Given the description of an element on the screen output the (x, y) to click on. 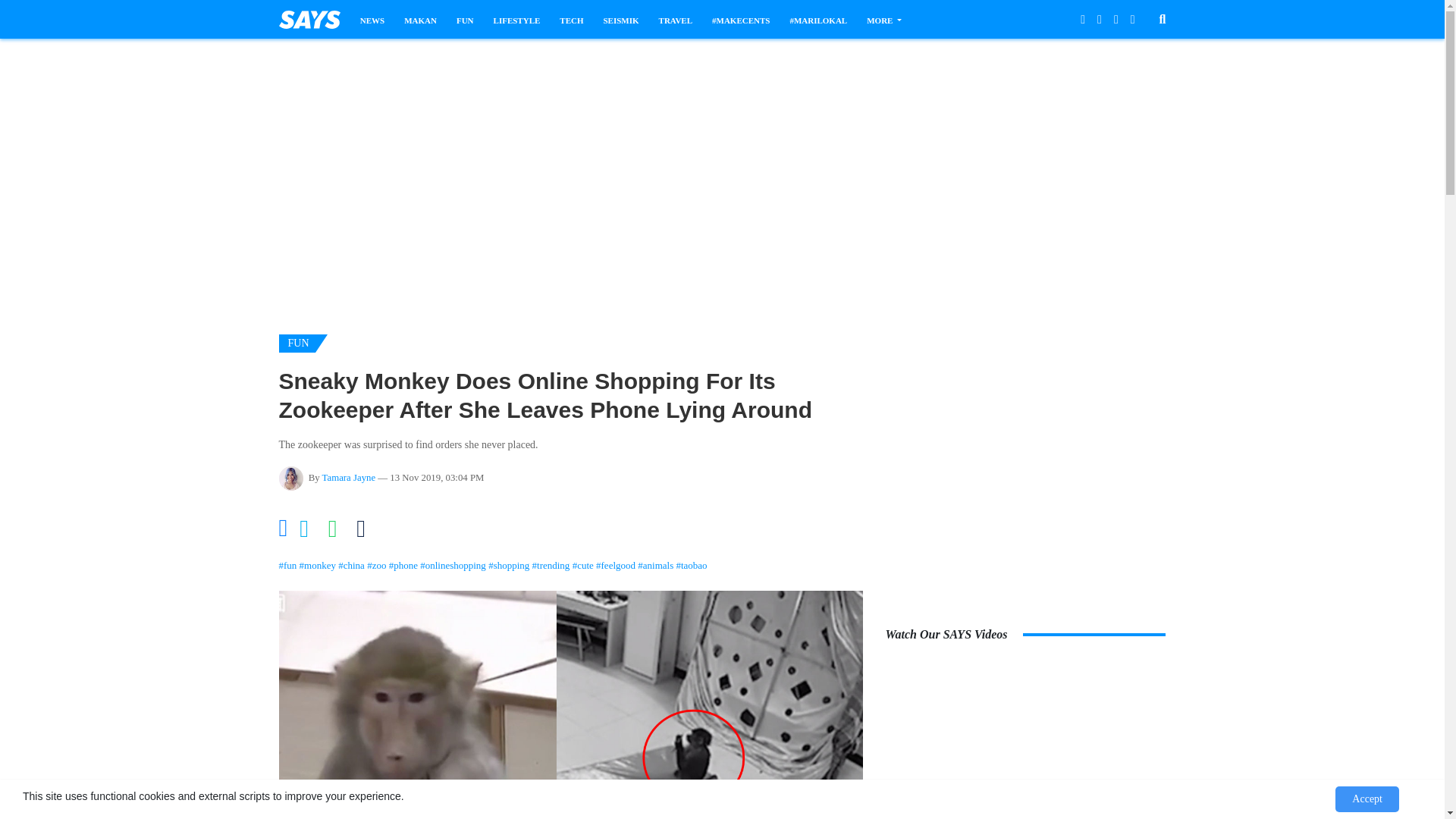
LIFESTYLE (516, 20)
SEISMIK (621, 20)
TRAVEL (676, 20)
TECH (571, 20)
NEWS (371, 20)
MAKAN (420, 20)
MORE (883, 20)
Tamara Jayne (348, 477)
FUN (465, 20)
